Given the description of an element on the screen output the (x, y) to click on. 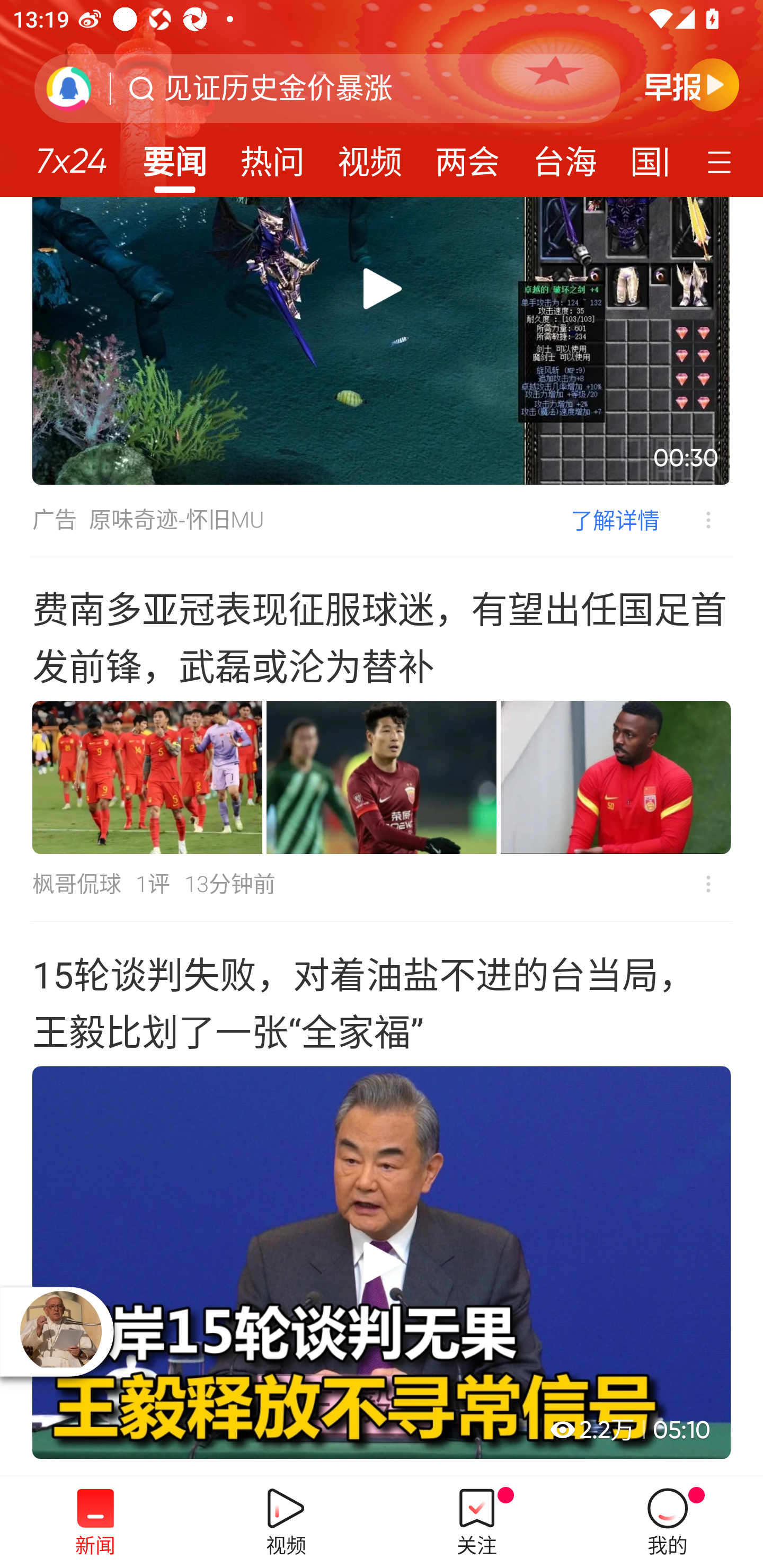
早晚报 (691, 84)
刷新 (68, 88)
见证历史金价暴涨 (278, 88)
7x24 (70, 154)
要闻 (174, 155)
热问 (272, 155)
视频 (369, 155)
两会 (466, 155)
台海 (564, 155)
 定制频道 (721, 160)
00:30 (381, 340)
 不感兴趣 (694, 519)
了解详情 (614, 519)
广告 (54, 519)
原味奇迹-怀旧MU (176, 519)
 不感兴趣 (707, 884)
播放器 (60, 1331)
